Given the description of an element on the screen output the (x, y) to click on. 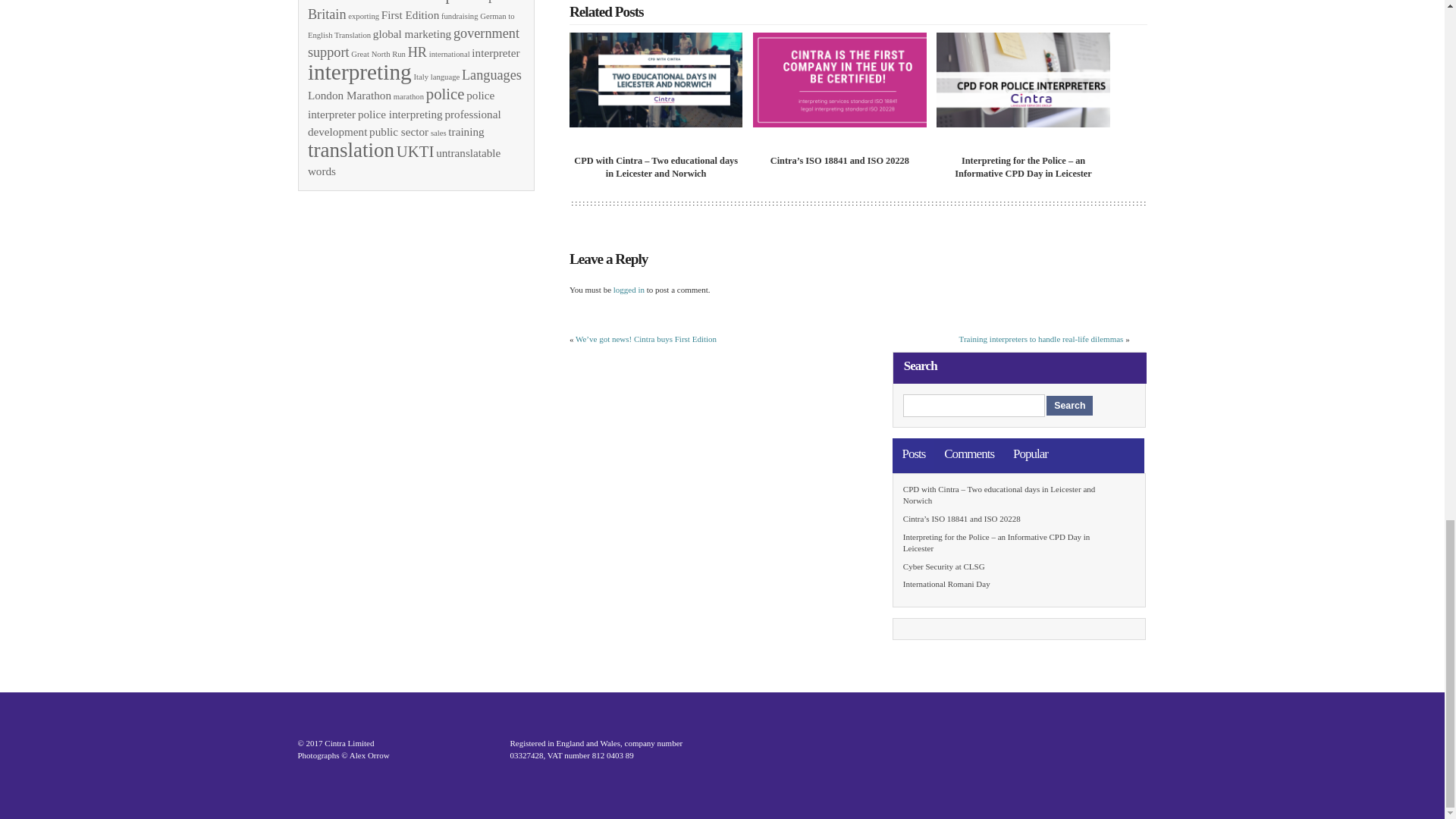
Posts (914, 453)
Popular (1030, 453)
Comments (969, 453)
logged in (628, 289)
Training interpreters to handle real-life dilemmas (1041, 338)
Search (1069, 405)
